Given the description of an element on the screen output the (x, y) to click on. 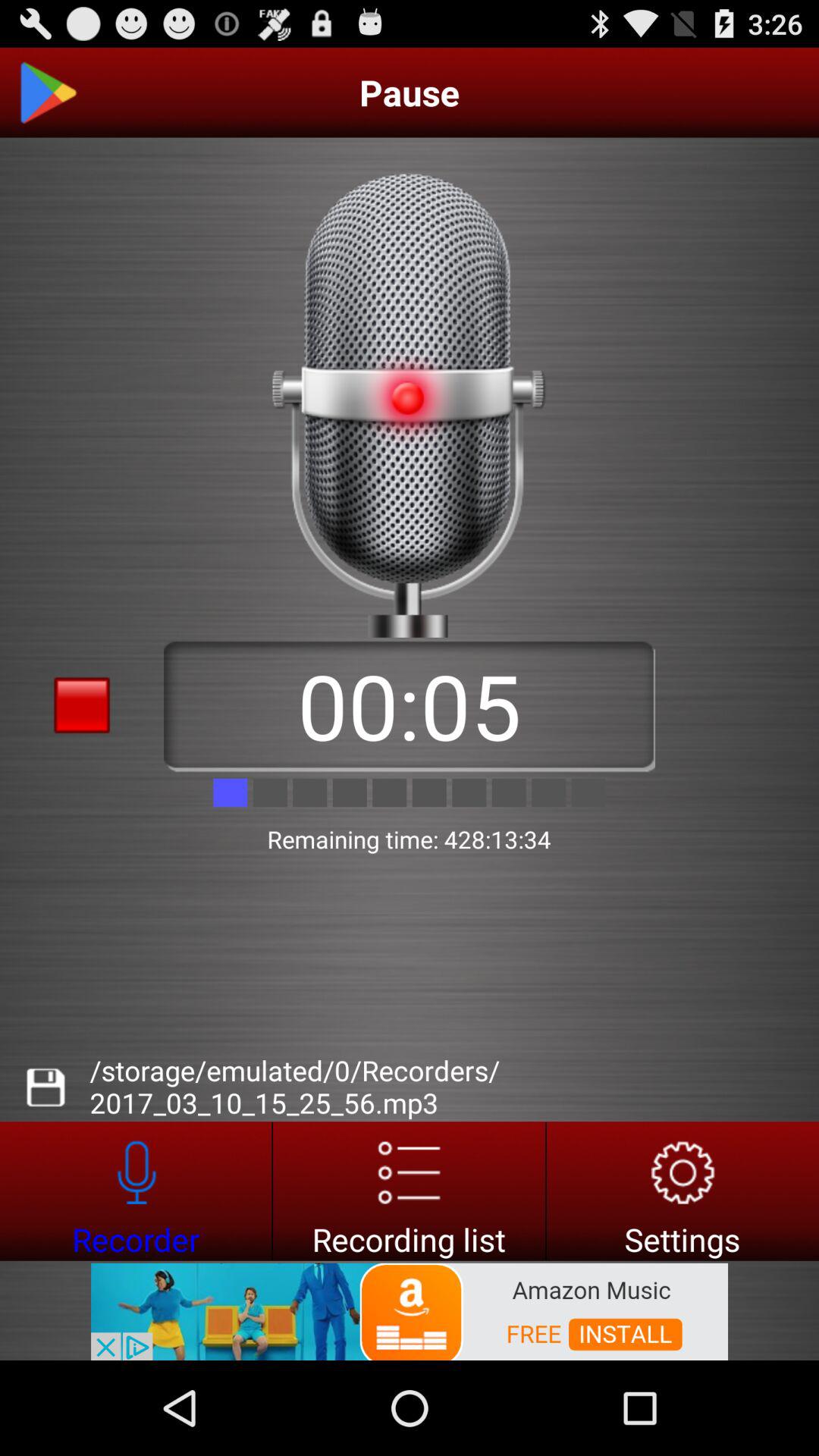
go to recorder (135, 1190)
